Given the description of an element on the screen output the (x, y) to click on. 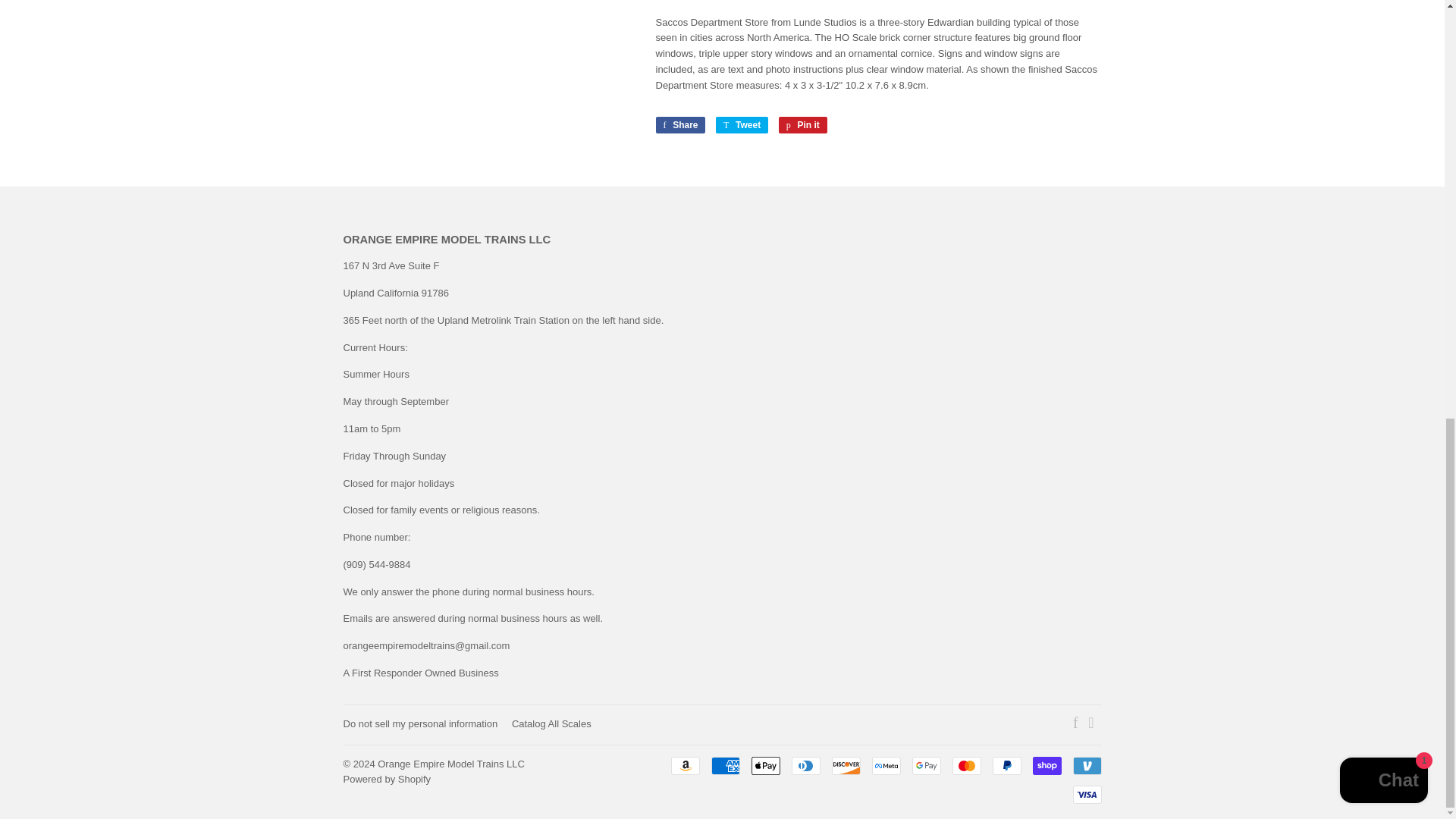
Google Pay (925, 765)
Meta Pay (886, 765)
Apple Pay (764, 765)
Diners Club (806, 765)
Pin on Pinterest (802, 124)
Discover (845, 765)
Share on Facebook (679, 124)
Venmo (1085, 765)
Amazon (683, 765)
Shop Pay (1046, 765)
Tweet on Twitter (742, 124)
American Express (725, 765)
Visa (1085, 794)
PayPal (1005, 765)
Mastercard (966, 765)
